Given the description of an element on the screen output the (x, y) to click on. 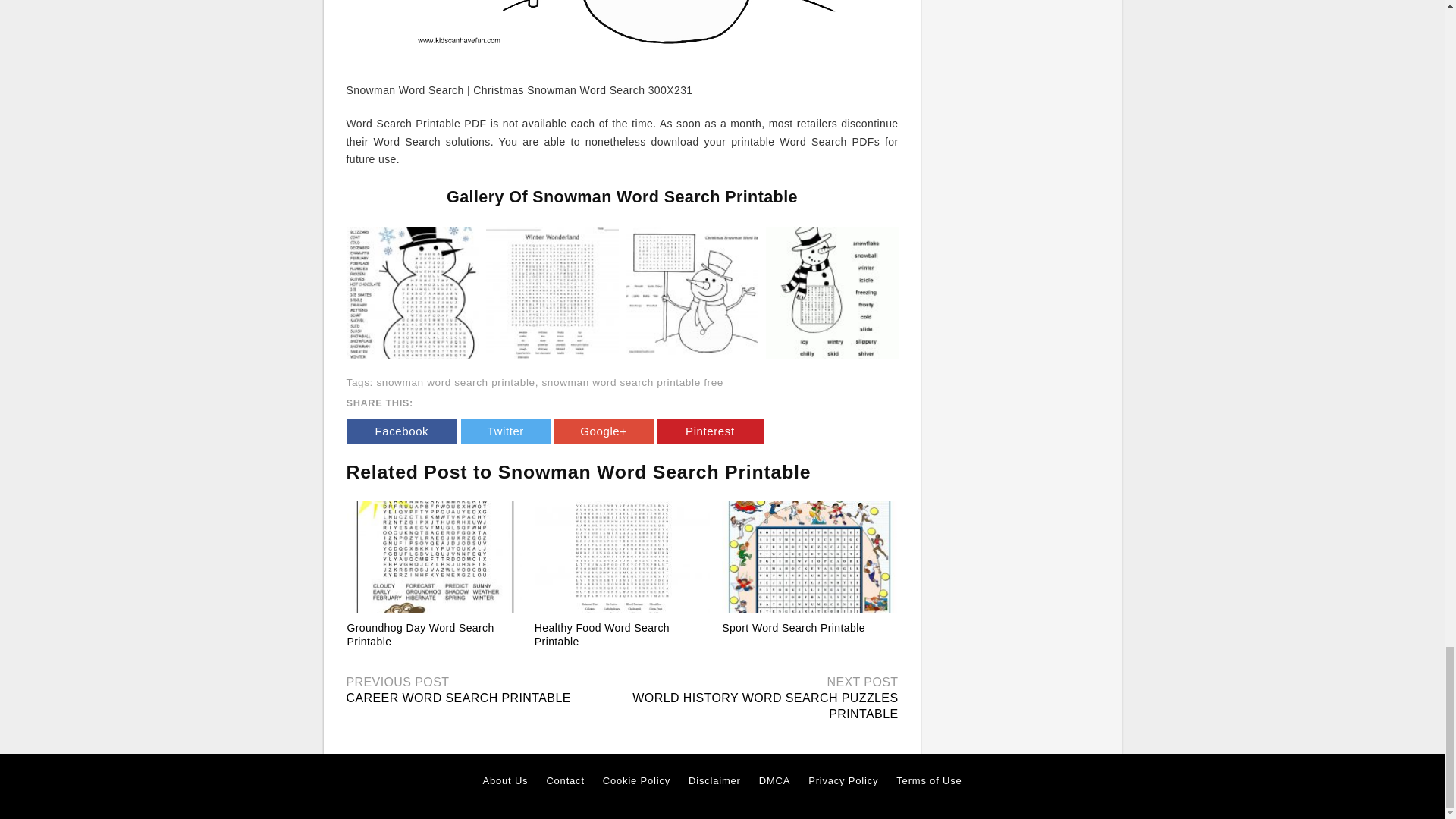
Snowman Word Search (831, 292)
snowman word search christmas snowman word search 300x231 1 (622, 33)
Healthy Food Word Search Printable (601, 634)
Sport Word Search Printable (793, 627)
Sport Word Search Printable (809, 557)
Facebook (401, 430)
Healthy Food Word Search Printable (601, 634)
Pinterest (709, 430)
snowman word search printable (454, 382)
Twitter (505, 430)
Winter Wonderland Word Search   Wordmint (552, 292)
Healthy Food Word Search Printable (622, 557)
Groundhog Day Word Search Printable (434, 557)
WORLD HISTORY WORD SEARCH PUZZLES PRINTABLE (764, 705)
CAREER WORD SEARCH PRINTABLE (458, 697)
